Given the description of an element on the screen output the (x, y) to click on. 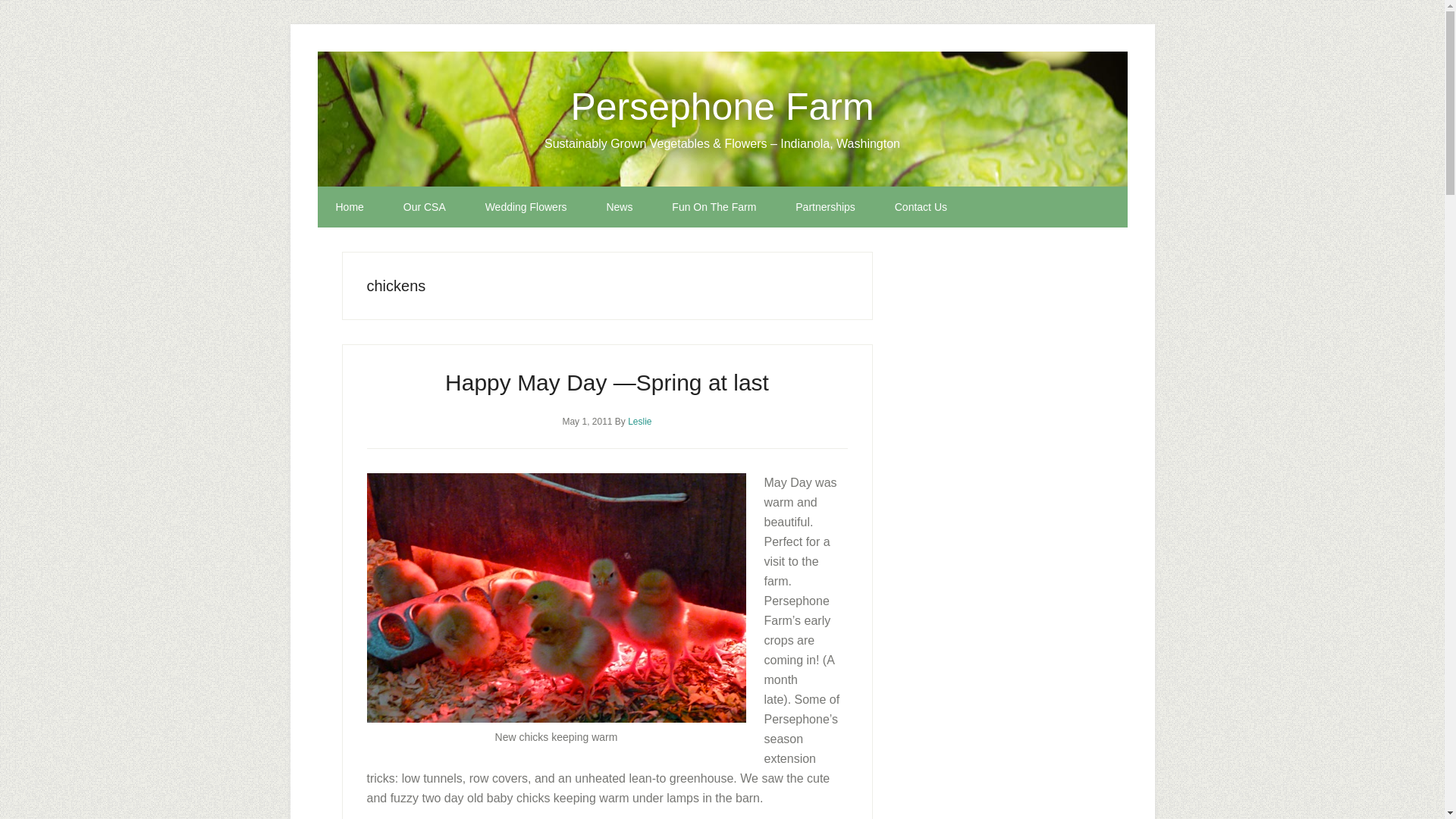
Leslie (638, 421)
News (619, 206)
Home (349, 206)
Fun On The Farm (713, 206)
Our CSA (424, 206)
Contact Us (920, 206)
Partnerships (825, 206)
Persephone Farm (721, 106)
pers-chicks-2011 (555, 597)
Wedding Flowers (526, 206)
